Given the description of an element on the screen output the (x, y) to click on. 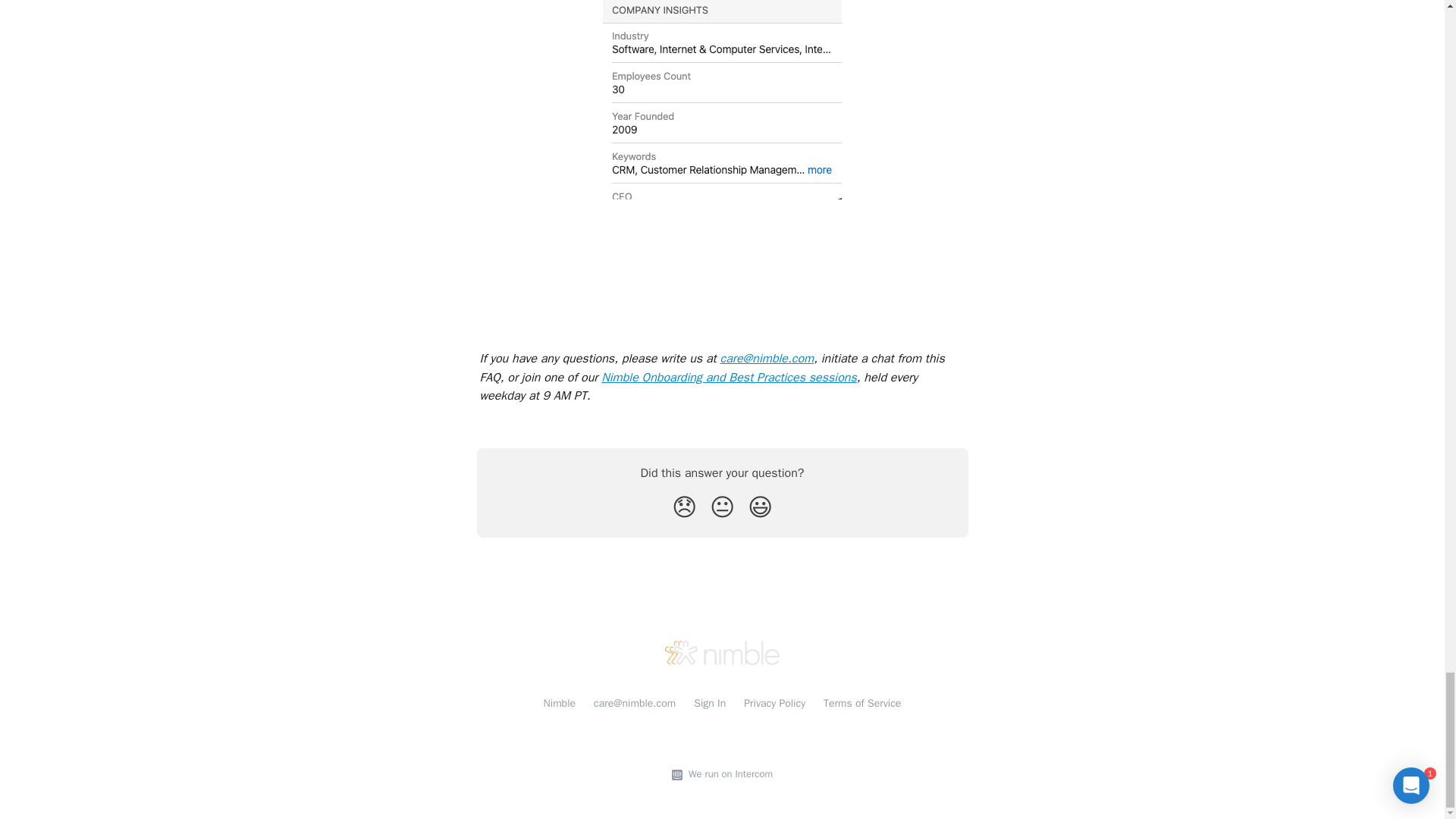
Terms of Service (862, 703)
Privacy Policy (774, 703)
We run on Intercom (727, 774)
Nimble (559, 703)
Nimble Onboarding and Best Practices sessions (728, 377)
Sign In (709, 703)
